Given the description of an element on the screen output the (x, y) to click on. 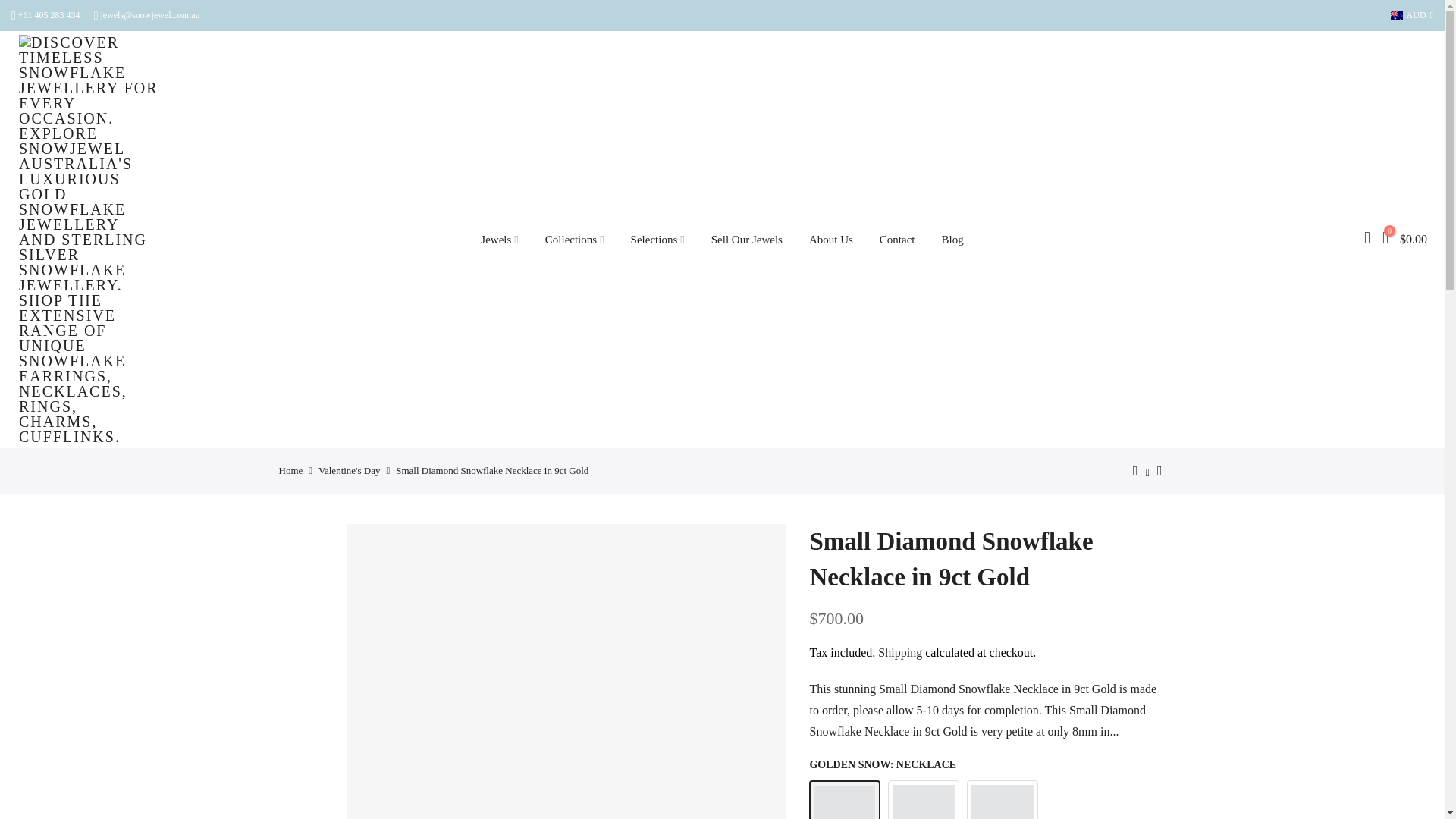
Contact (897, 239)
Jewels (499, 239)
Blog (952, 239)
About Us (830, 239)
Valentine's Day (349, 470)
Collections (574, 239)
Home (290, 470)
Sell Our Jewels (745, 239)
Selections (657, 239)
